Given the description of an element on the screen output the (x, y) to click on. 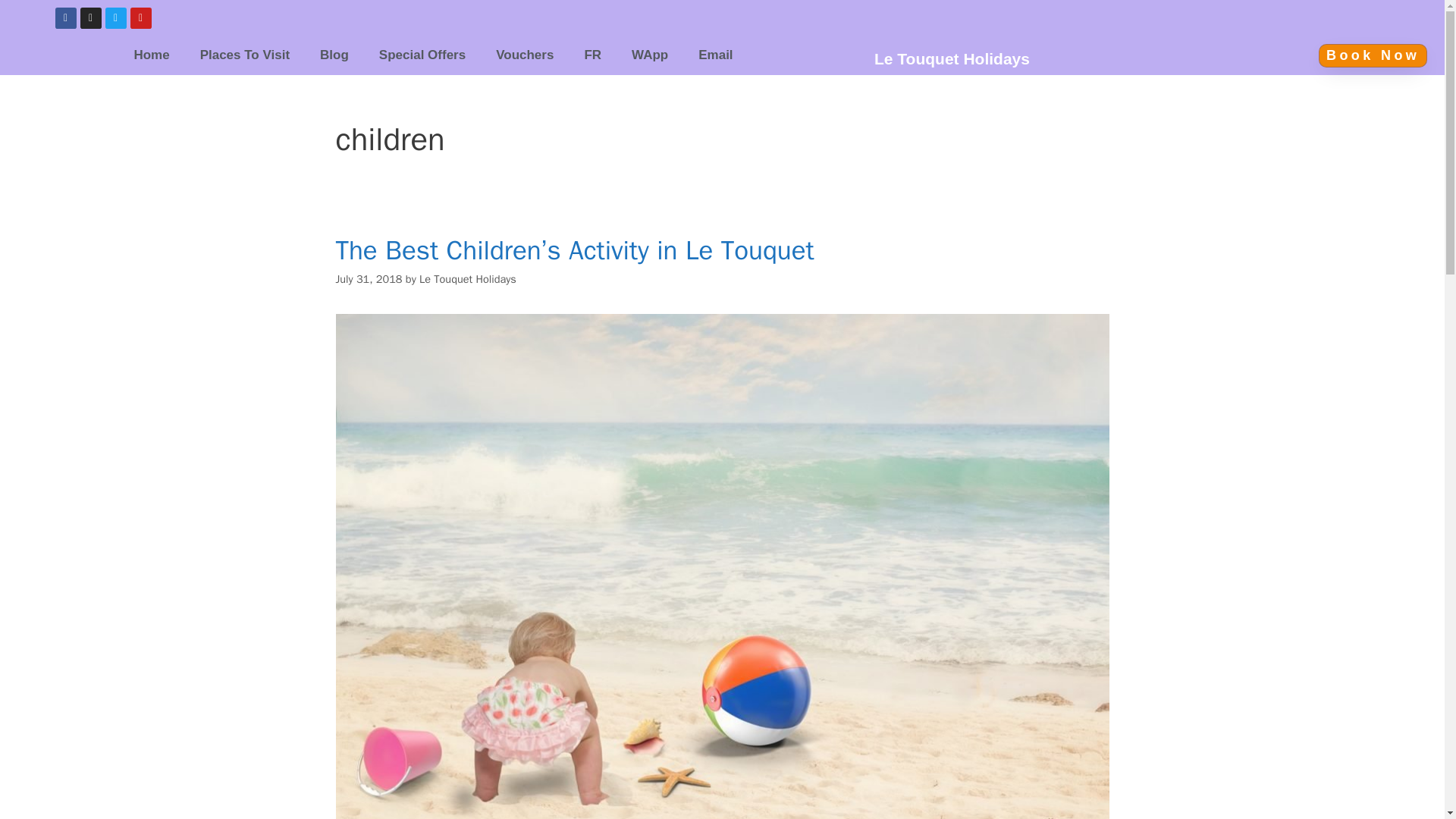
Home (150, 55)
Le Touquet Holidays (467, 278)
Special Offers (422, 55)
FR (592, 55)
Email (715, 55)
View all posts by Le Touquet Holidays (467, 278)
WApp (648, 55)
Places To Visit (244, 55)
Vouchers (524, 55)
Book Now (1372, 55)
Blog (334, 55)
